Given the description of an element on the screen output the (x, y) to click on. 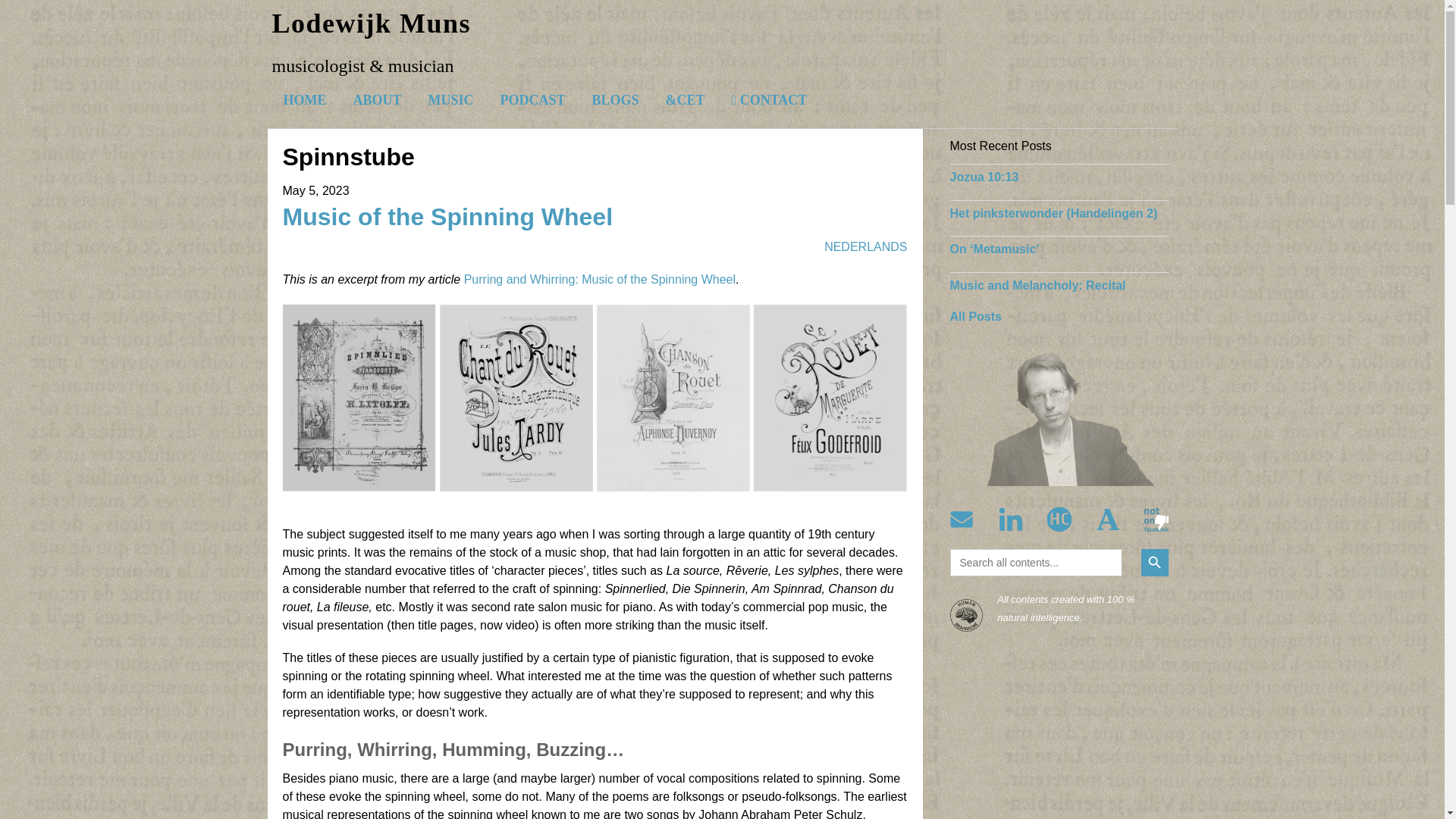
Search Button (1153, 562)
NEDERLANDS (865, 246)
BLOGS (615, 99)
CONTACT (769, 99)
Music and Melancholy: Recital (1037, 285)
Jozua 10:13 (983, 176)
Music of the Spinning Wheel (447, 216)
Lodewijk Muns (370, 23)
HOME (303, 99)
Purring and Whirring: Music of the Spinning Wheel (599, 278)
